Given the description of an element on the screen output the (x, y) to click on. 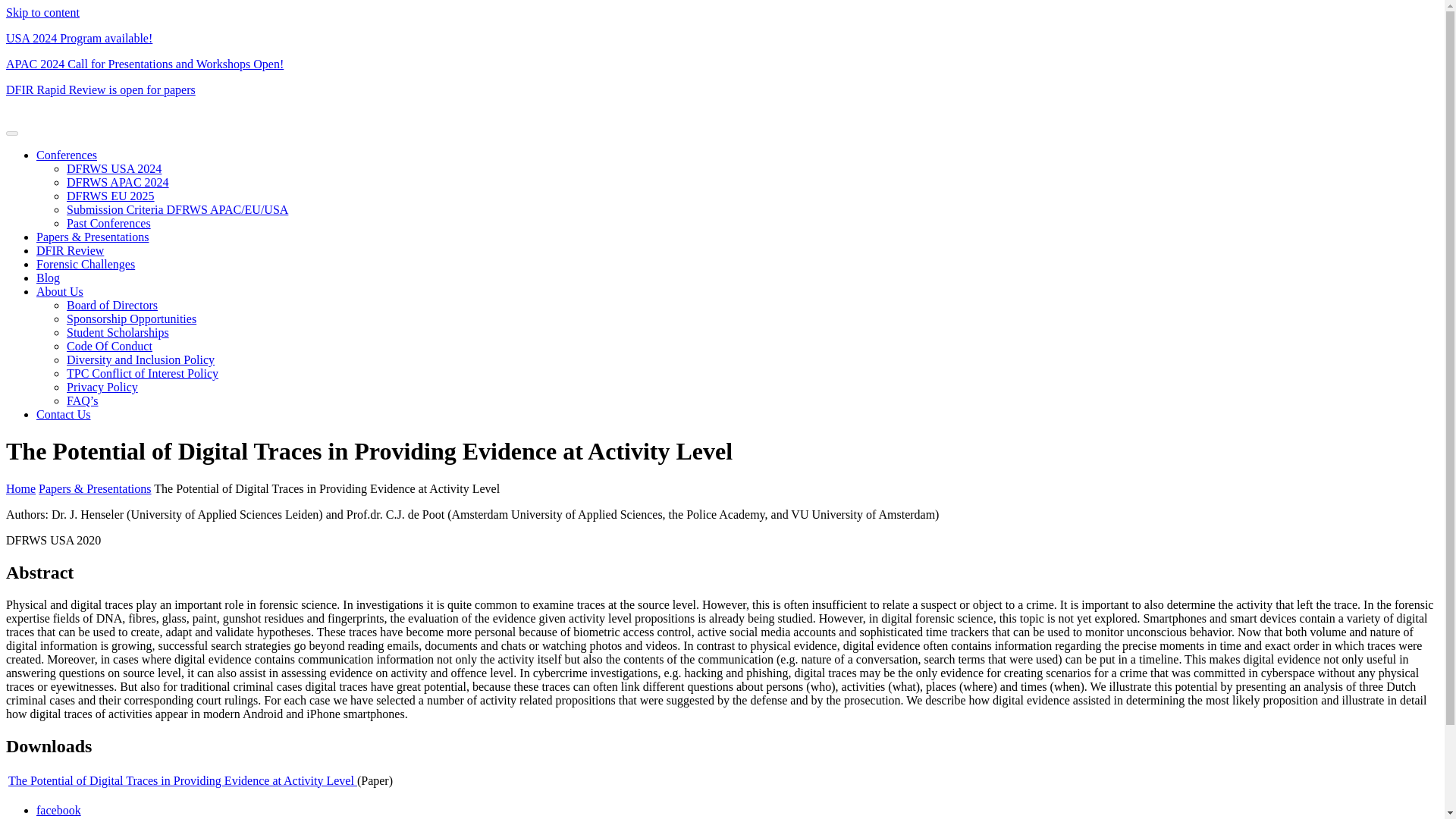
TPC Conflict of Interest Policy (142, 373)
Forensic Challenges (85, 264)
Conferences (66, 154)
Conferences (66, 154)
Sponsorship Opportunities (131, 318)
USA 2024 Program available! (78, 38)
Code Of Conduct (109, 345)
Forensic Challenges (85, 264)
Past Conferences (108, 223)
About Us (59, 291)
